Given the description of an element on the screen output the (x, y) to click on. 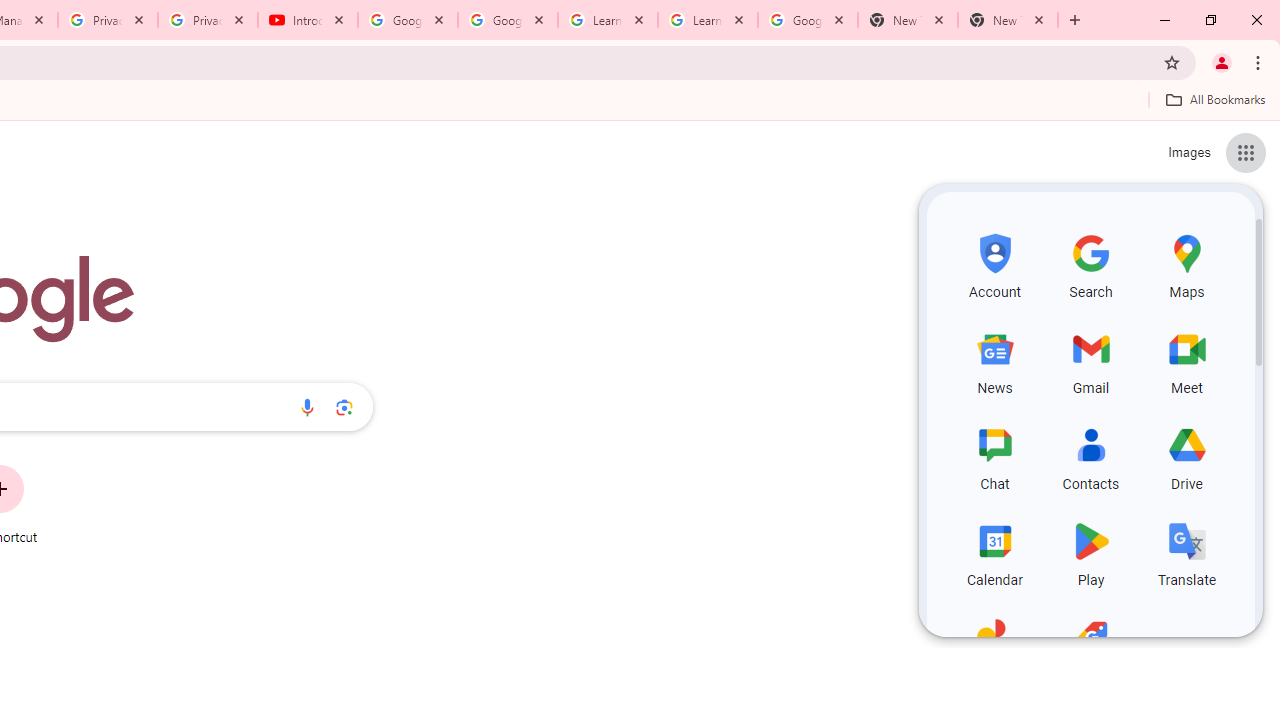
Maps, row 1 of 5 and column 3 of 3 in the first section (1186, 263)
Chat, row 3 of 5 and column 1 of 3 in the first section (994, 455)
New Tab (907, 20)
Search for Images  (1188, 152)
Introduction | Google Privacy Policy - YouTube (308, 20)
Search, row 1 of 5 and column 2 of 3 in the first section (1090, 263)
New Tab (1007, 20)
Meet, row 2 of 5 and column 3 of 3 in the first section (1186, 359)
Contacts, row 3 of 5 and column 2 of 3 in the first section (1090, 455)
Google Account Help (508, 20)
